Given the description of an element on the screen output the (x, y) to click on. 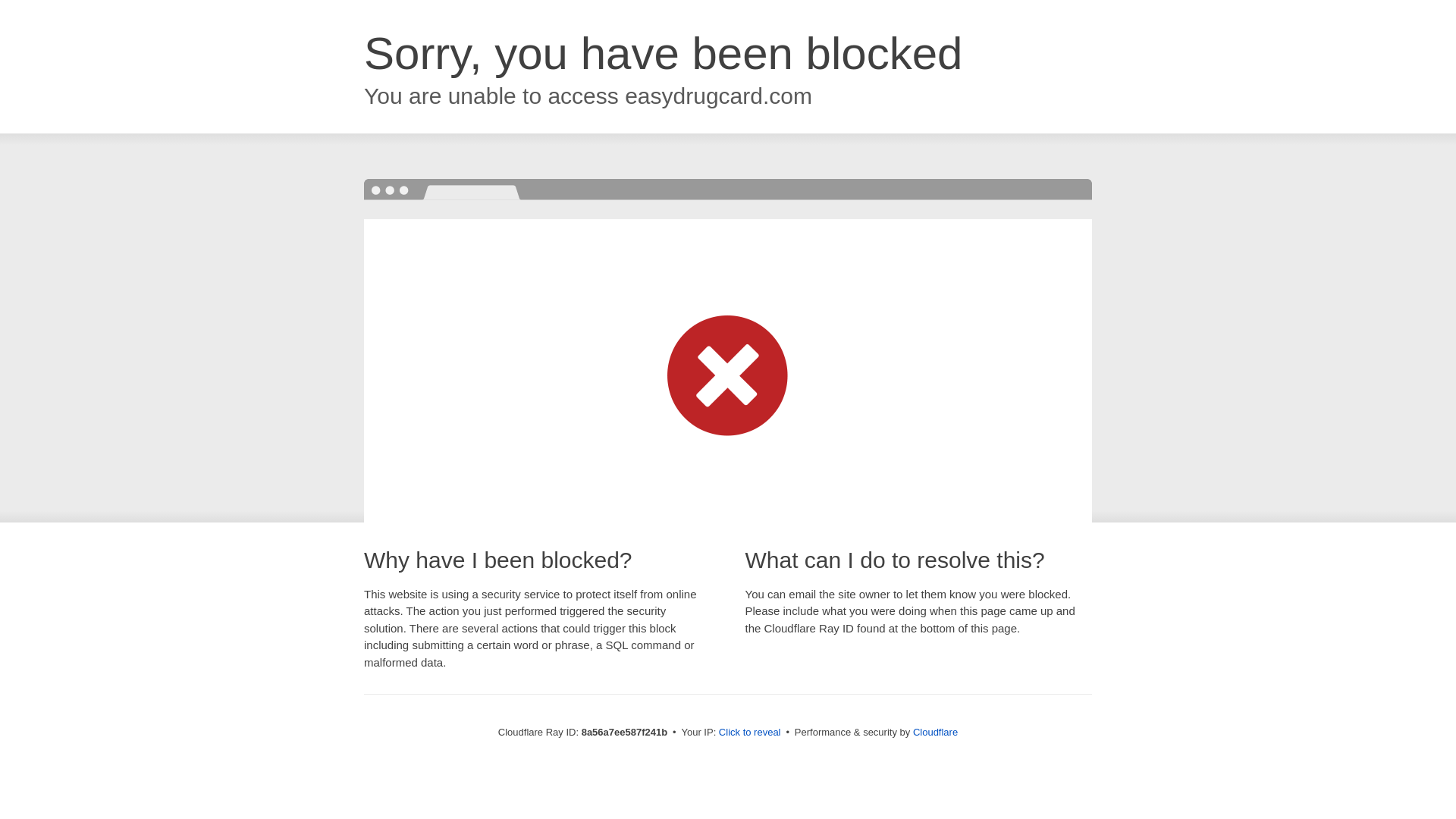
Click to reveal (749, 732)
Cloudflare (935, 731)
